Given the description of an element on the screen output the (x, y) to click on. 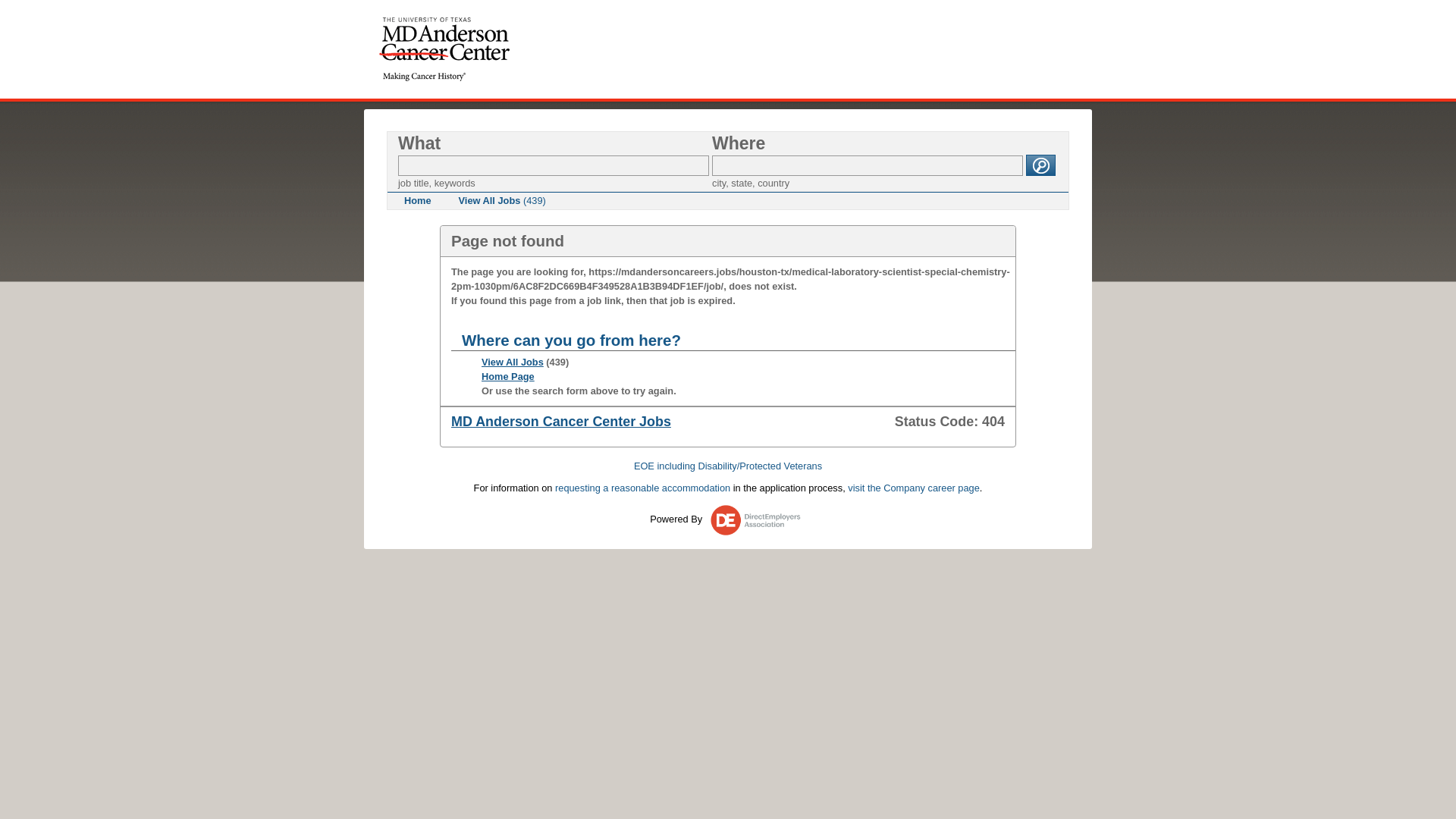
Search Location (867, 165)
View All Jobs (512, 361)
search (1040, 165)
Submit Search (1040, 165)
home (443, 49)
search (1040, 165)
Home (417, 200)
Search Phrase (553, 165)
requesting a reasonable accommodation (642, 487)
MD Anderson Cancer Center Jobs (561, 421)
Home Page (507, 376)
visit the Company career page (913, 487)
